Given the description of an element on the screen output the (x, y) to click on. 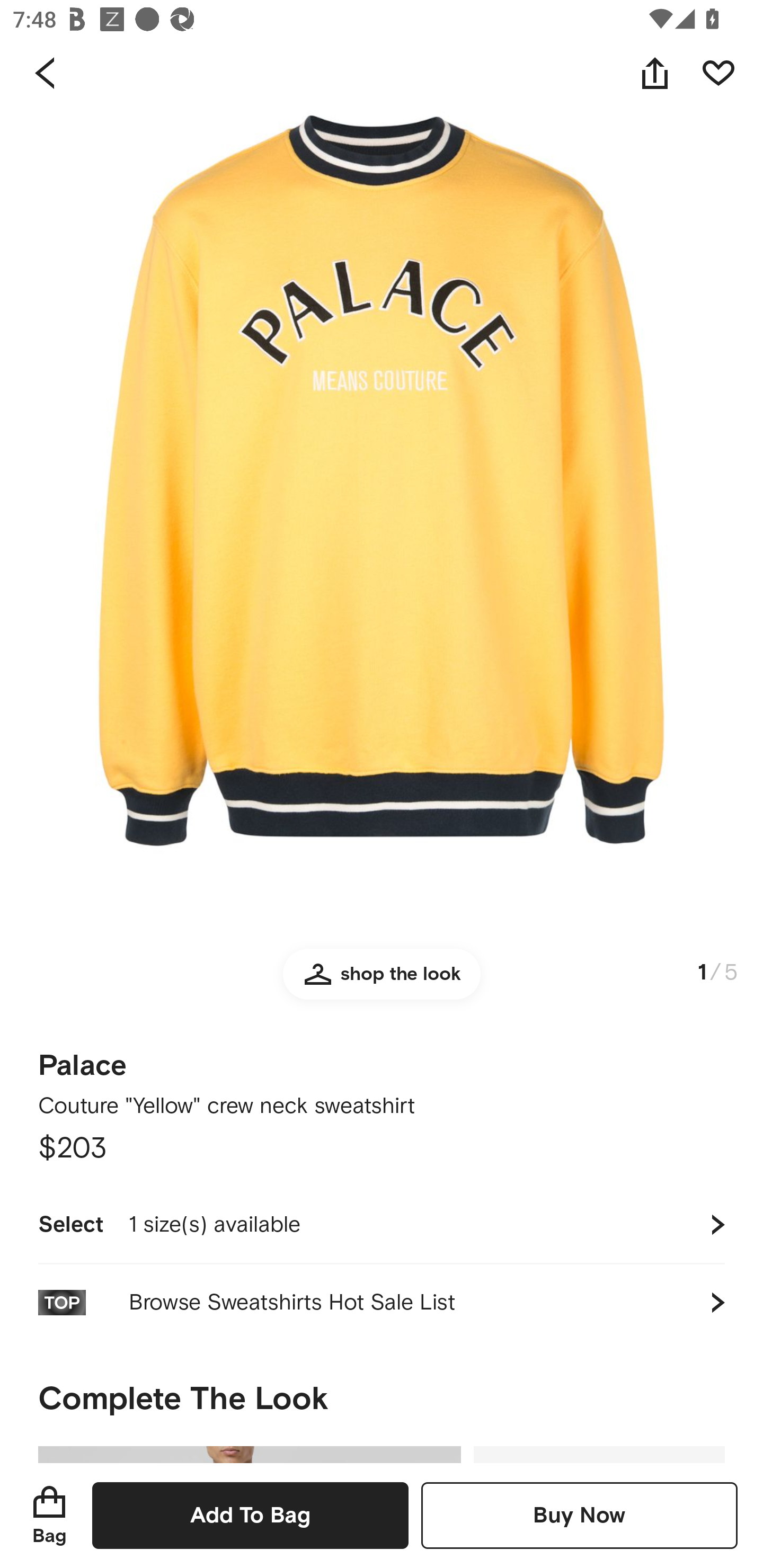
shop the look (381, 982)
Palace (82, 1059)
Select 1 size(s) available (381, 1224)
Browse Sweatshirts Hot Sale List (381, 1301)
Bag (49, 1515)
Add To Bag (250, 1515)
Buy Now (579, 1515)
